Given the description of an element on the screen output the (x, y) to click on. 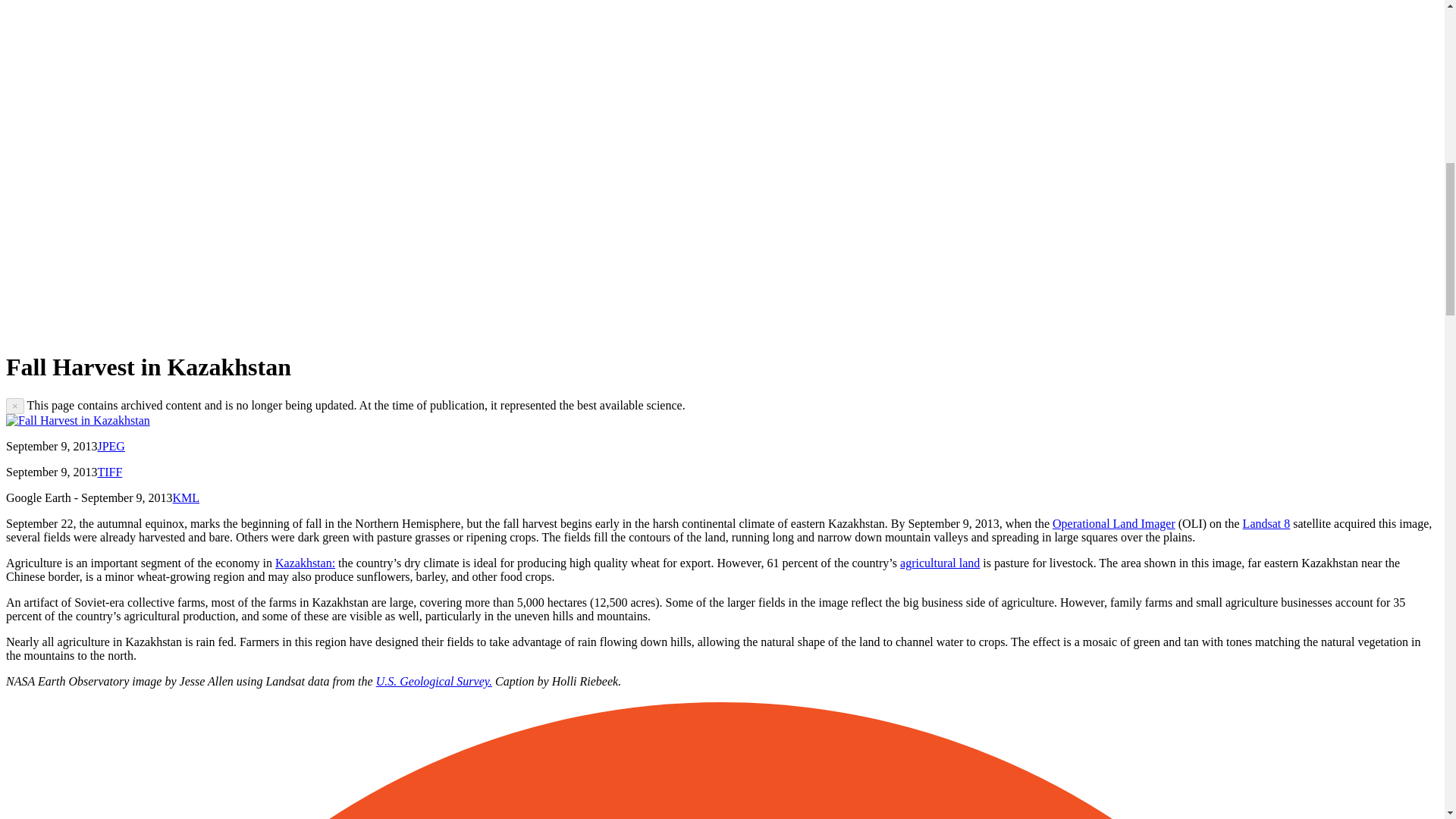
Share (161, 329)
Print (510, 329)
